Given the description of an element on the screen output the (x, y) to click on. 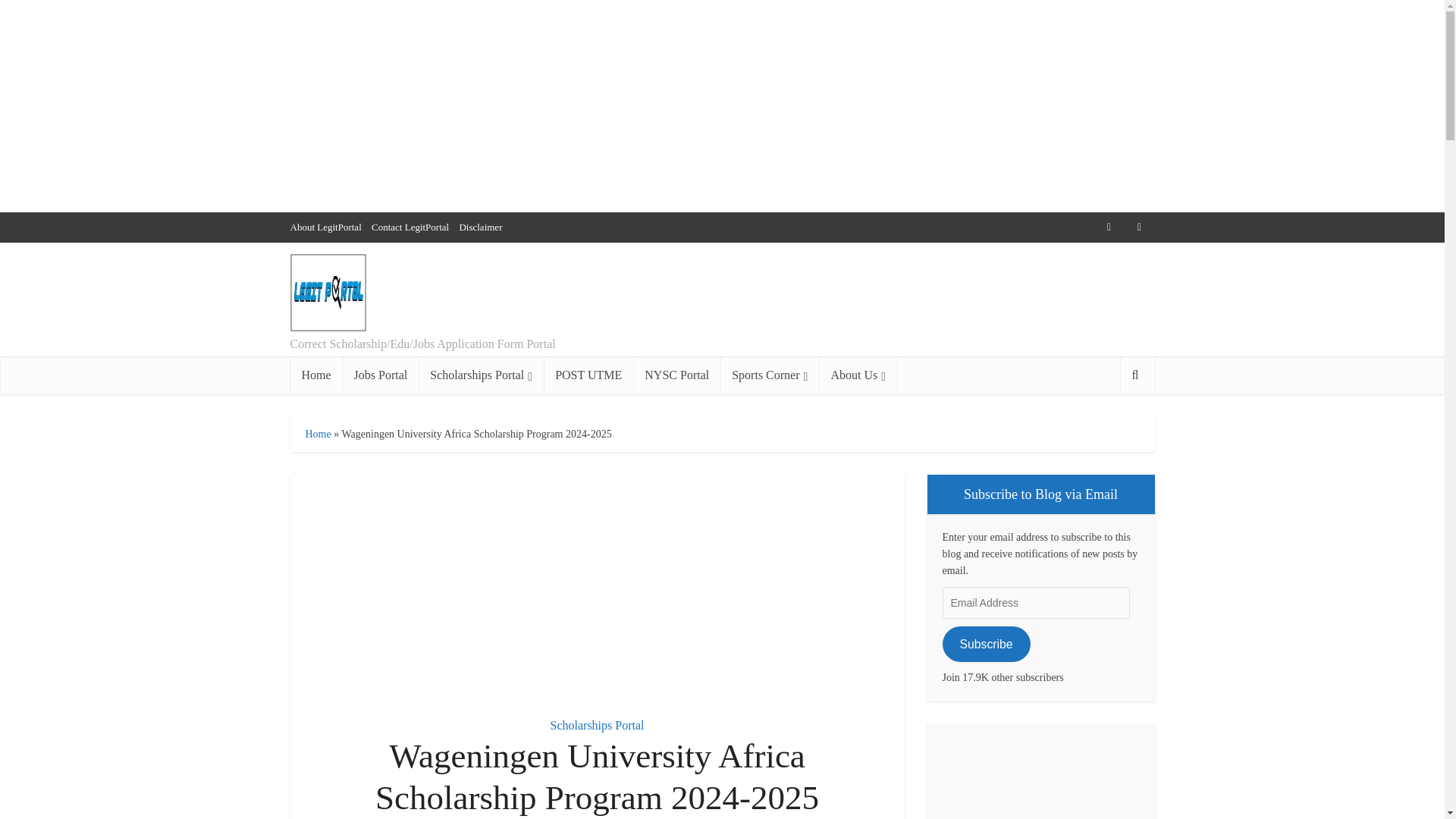
Scholarships Portal (597, 725)
Home (315, 374)
Scholarships Portal (481, 374)
POST UTME (588, 374)
Disclaimer (480, 226)
Contact LegitPortal (409, 226)
Sports Corner (769, 374)
About LegitPortal (325, 226)
Legit Portal (327, 292)
